Given the description of an element on the screen output the (x, y) to click on. 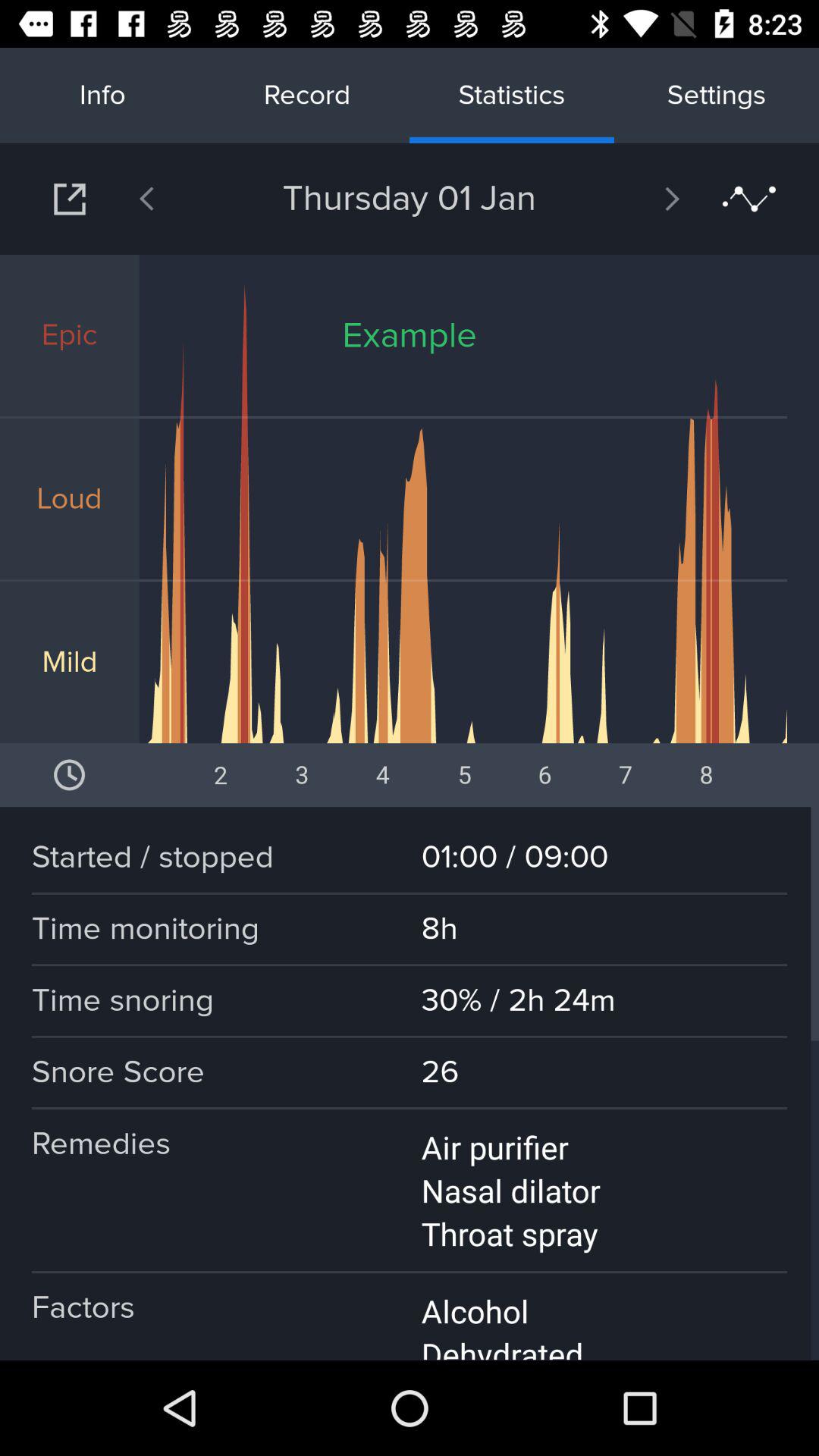
open the icon above the epic app (186, 198)
